Given the description of an element on the screen output the (x, y) to click on. 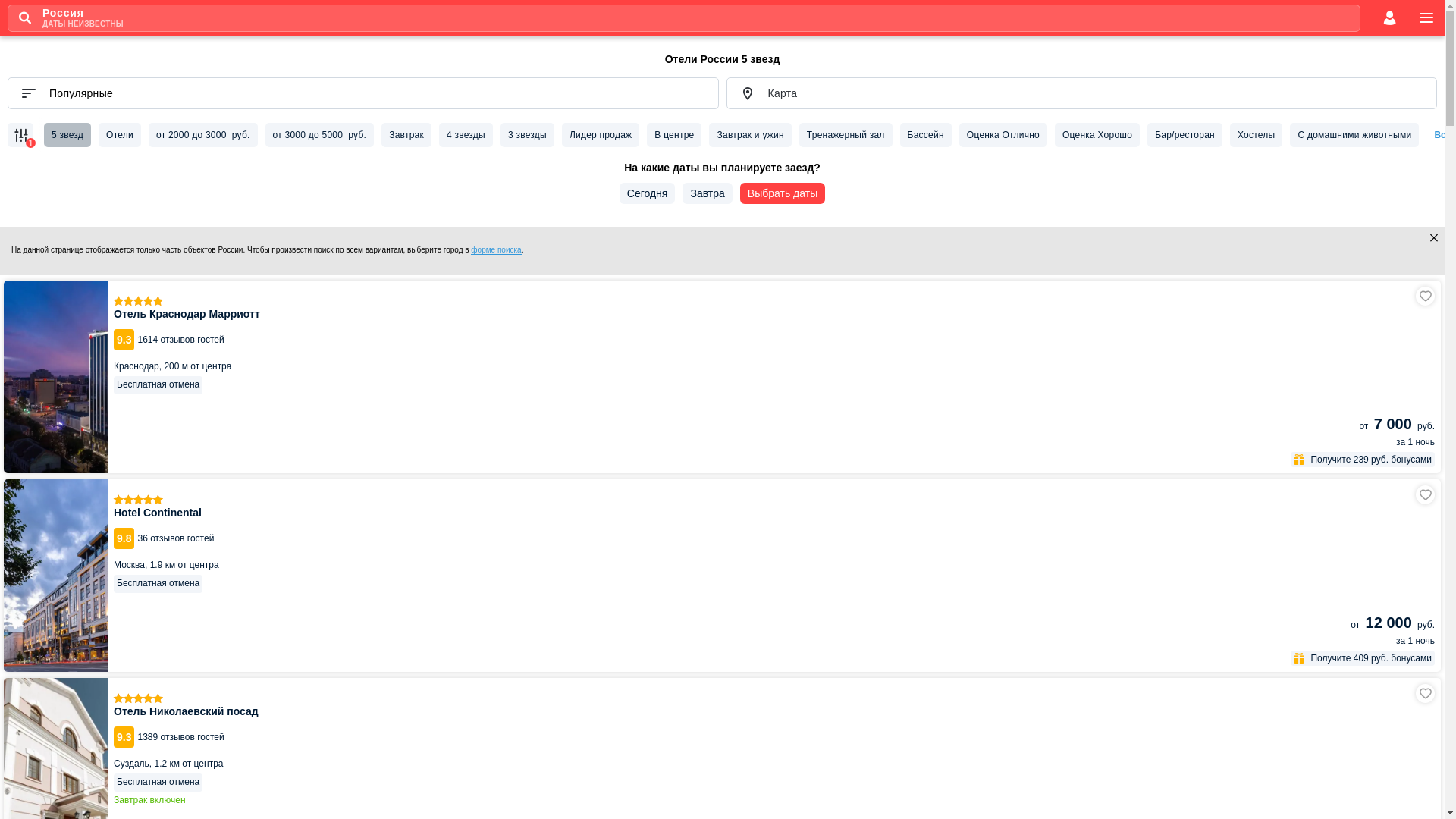
Hotel Continental Element type: text (721, 575)
